Given the description of an element on the screen output the (x, y) to click on. 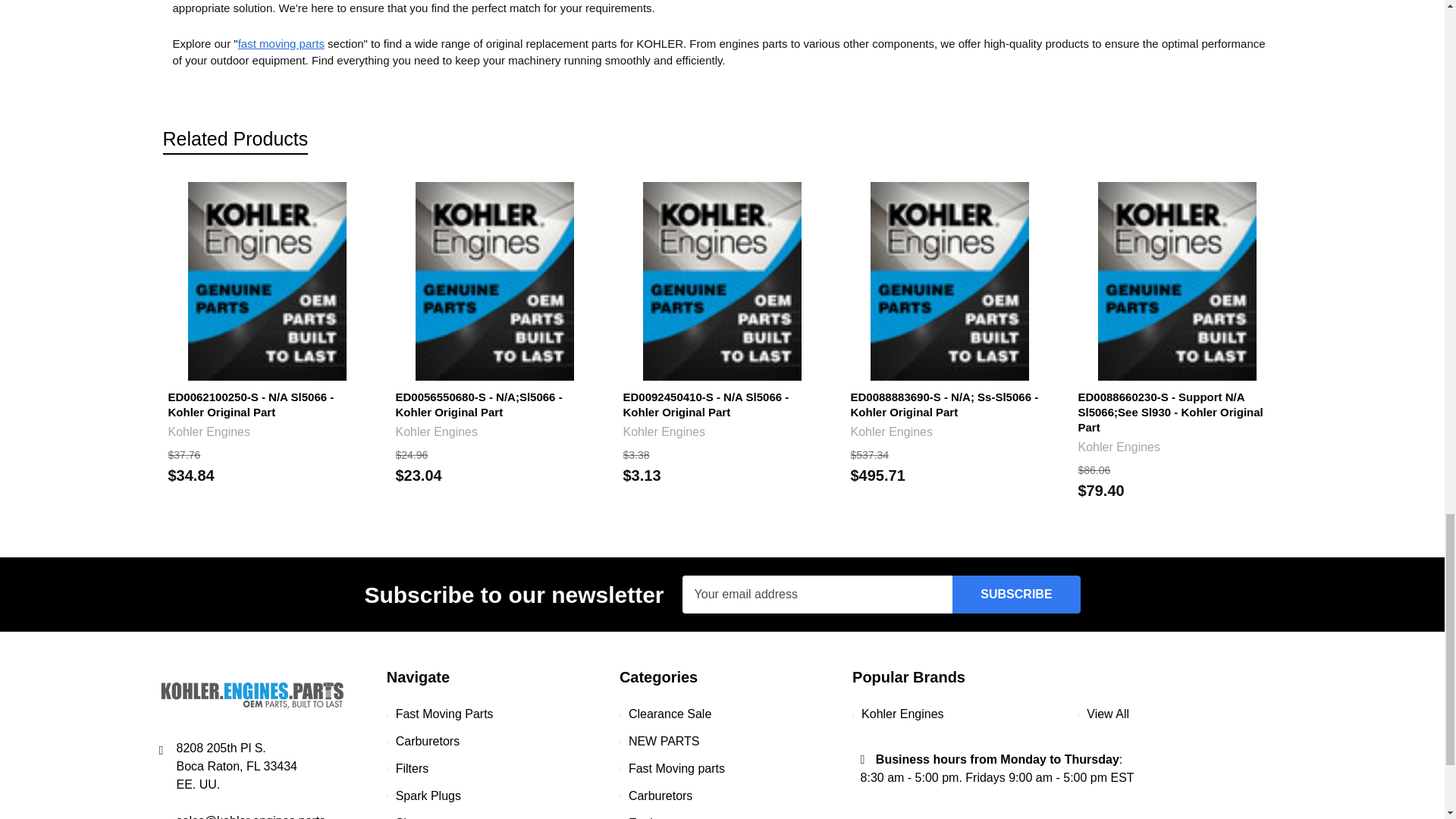
Subscribe (1016, 594)
Kohler Engines Parts (251, 694)
